Given the description of an element on the screen output the (x, y) to click on. 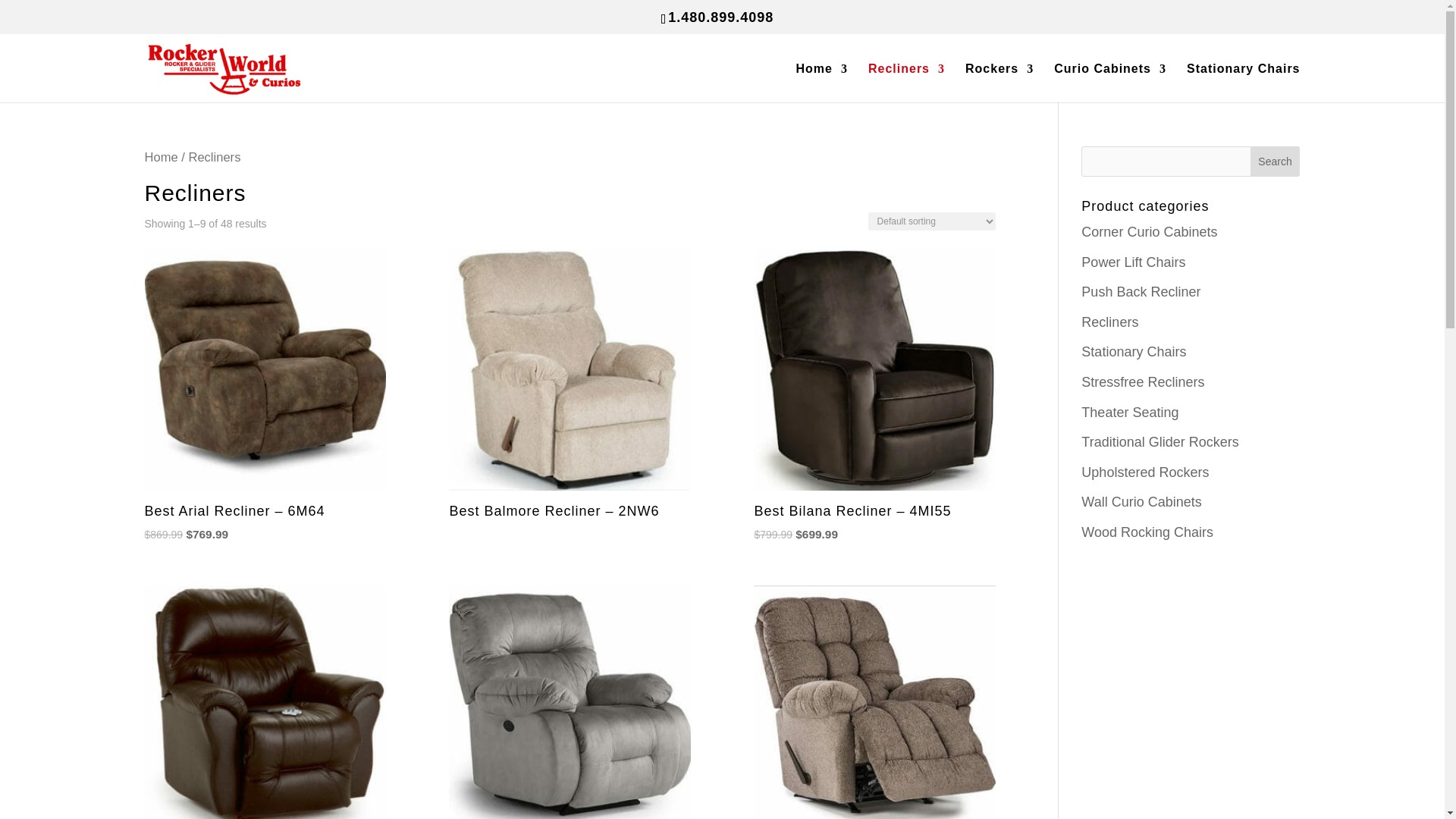
Curio Cabinets (1110, 82)
Stationary Chairs (1243, 82)
Home (821, 82)
Home (160, 156)
Rockers (999, 82)
Recliners (905, 82)
